Given the description of an element on the screen output the (x, y) to click on. 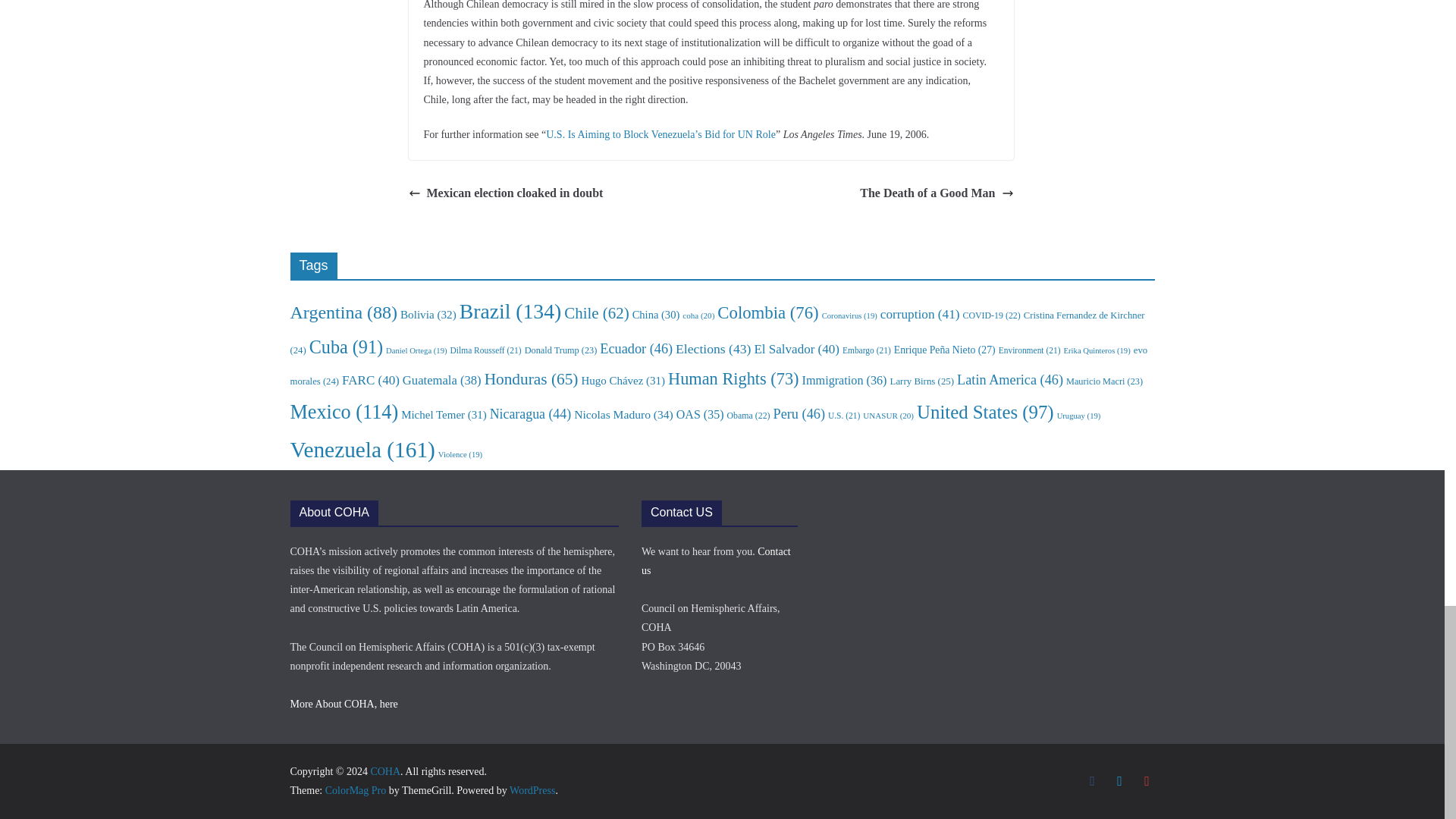
ColorMag Pro (355, 790)
COHA (384, 771)
WordPress (531, 790)
